Given the description of an element on the screen output the (x, y) to click on. 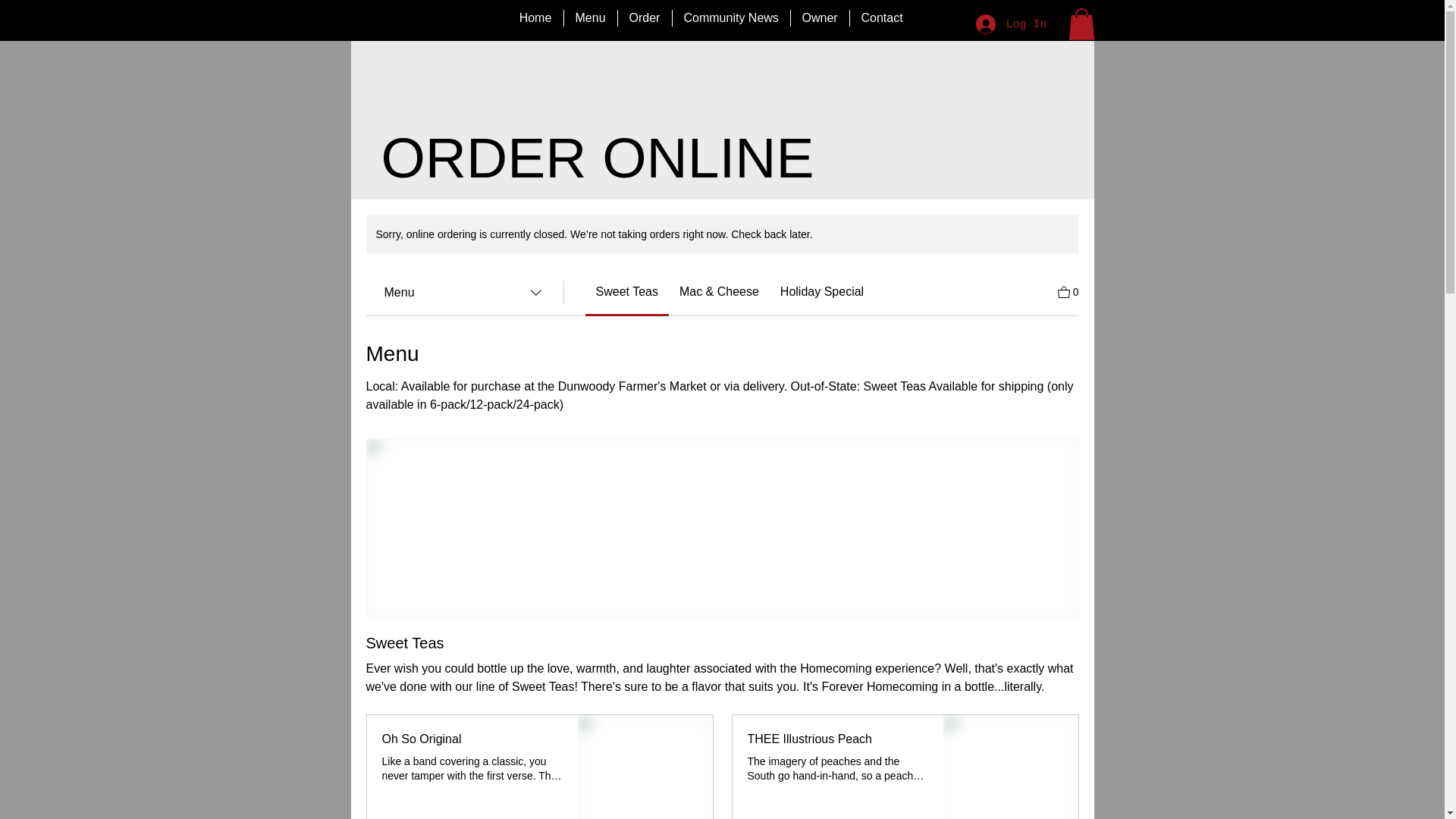
Oh So Original (471, 739)
Order (644, 17)
Menu (463, 292)
Contact (881, 17)
THEE Illustrious Peach (838, 739)
Owner (819, 17)
Log In (1009, 23)
Community News (730, 17)
Home (535, 17)
Menu (590, 17)
